Given the description of an element on the screen output the (x, y) to click on. 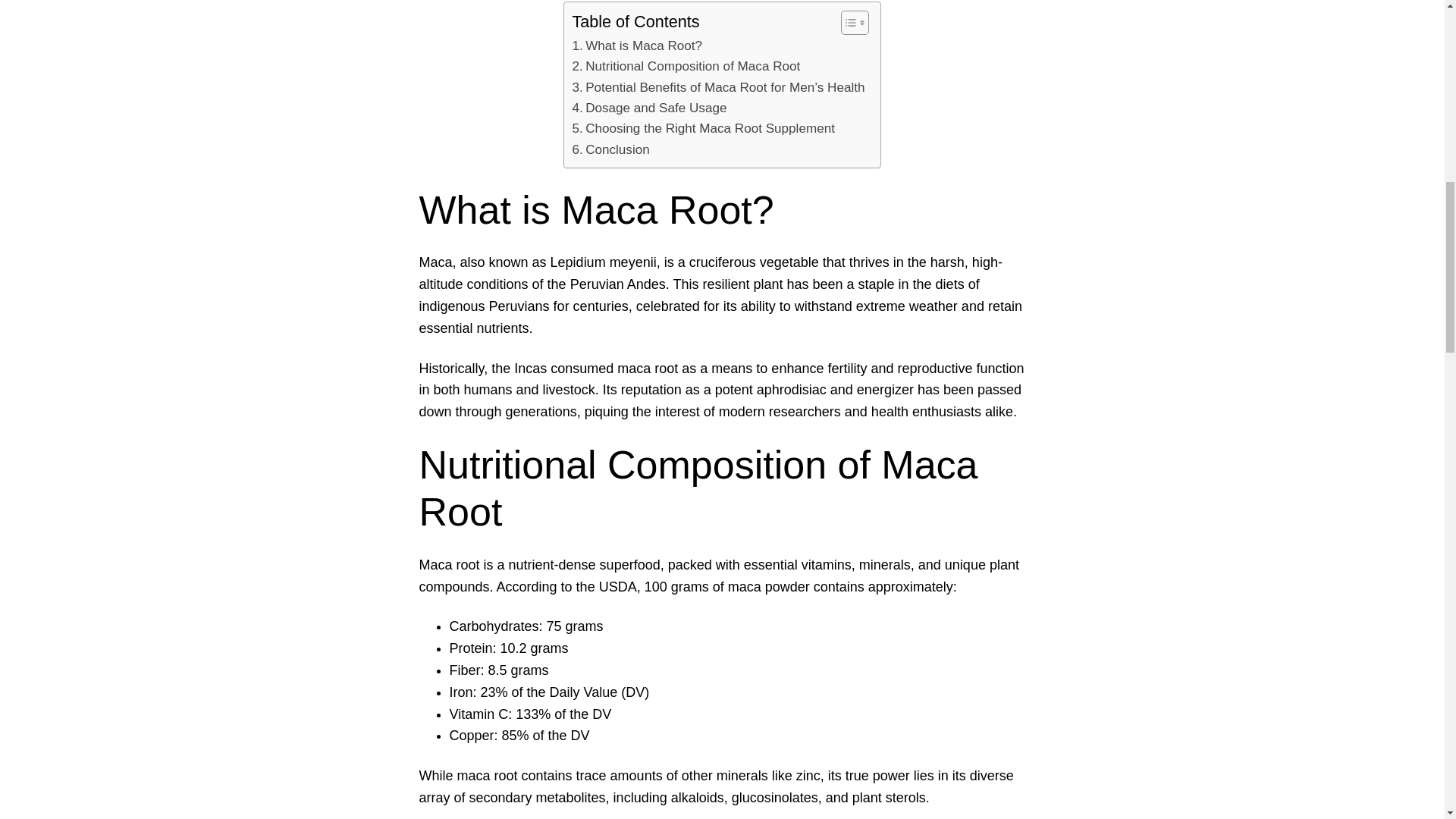
Conclusion (610, 149)
Dosage and Safe Usage (649, 107)
Conclusion (610, 149)
Nutritional Composition of Maca Root (685, 66)
Dosage and Safe Usage (649, 107)
Choosing the Right Maca Root Supplement (703, 127)
What is Maca Root? (636, 46)
Nutritional Composition of Maca Root (685, 66)
Choosing the Right Maca Root Supplement (703, 127)
What is Maca Root? (636, 46)
